Given the description of an element on the screen output the (x, y) to click on. 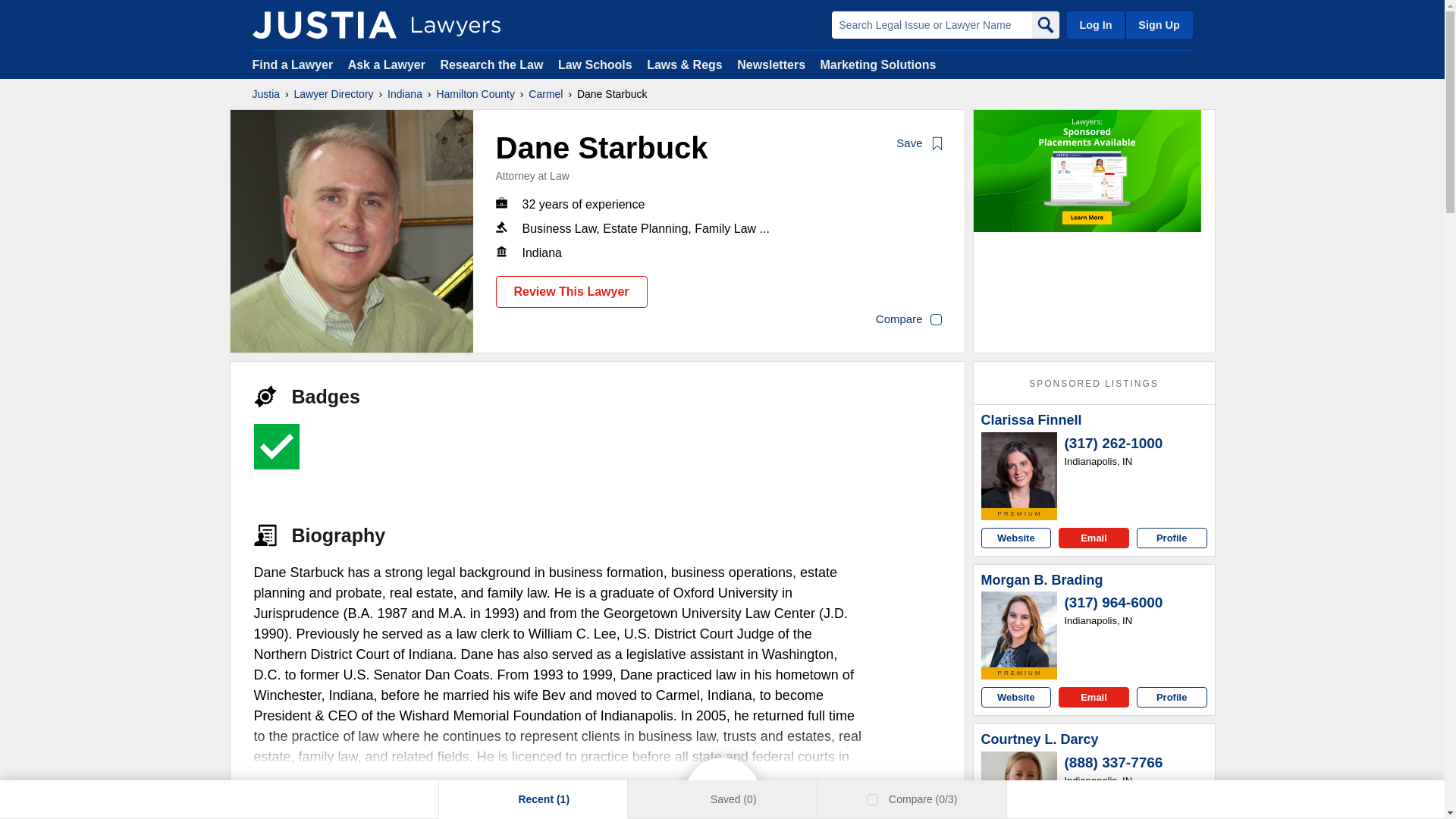
Sign Up (1158, 24)
Search (1044, 24)
Carmel (545, 93)
Courtney L. Darcy (1019, 785)
Law Schools (594, 64)
Ask a Lawyer (388, 64)
Compare (909, 319)
Research the Law (491, 64)
Morgan B. Brading (1042, 580)
Marketing Solutions (877, 64)
Log In (1094, 24)
Clarissa Finnell (1031, 420)
Courtney L. Darcy (1040, 740)
Hamilton County (475, 93)
Lawyer Directory (334, 93)
